Given the description of an element on the screen output the (x, y) to click on. 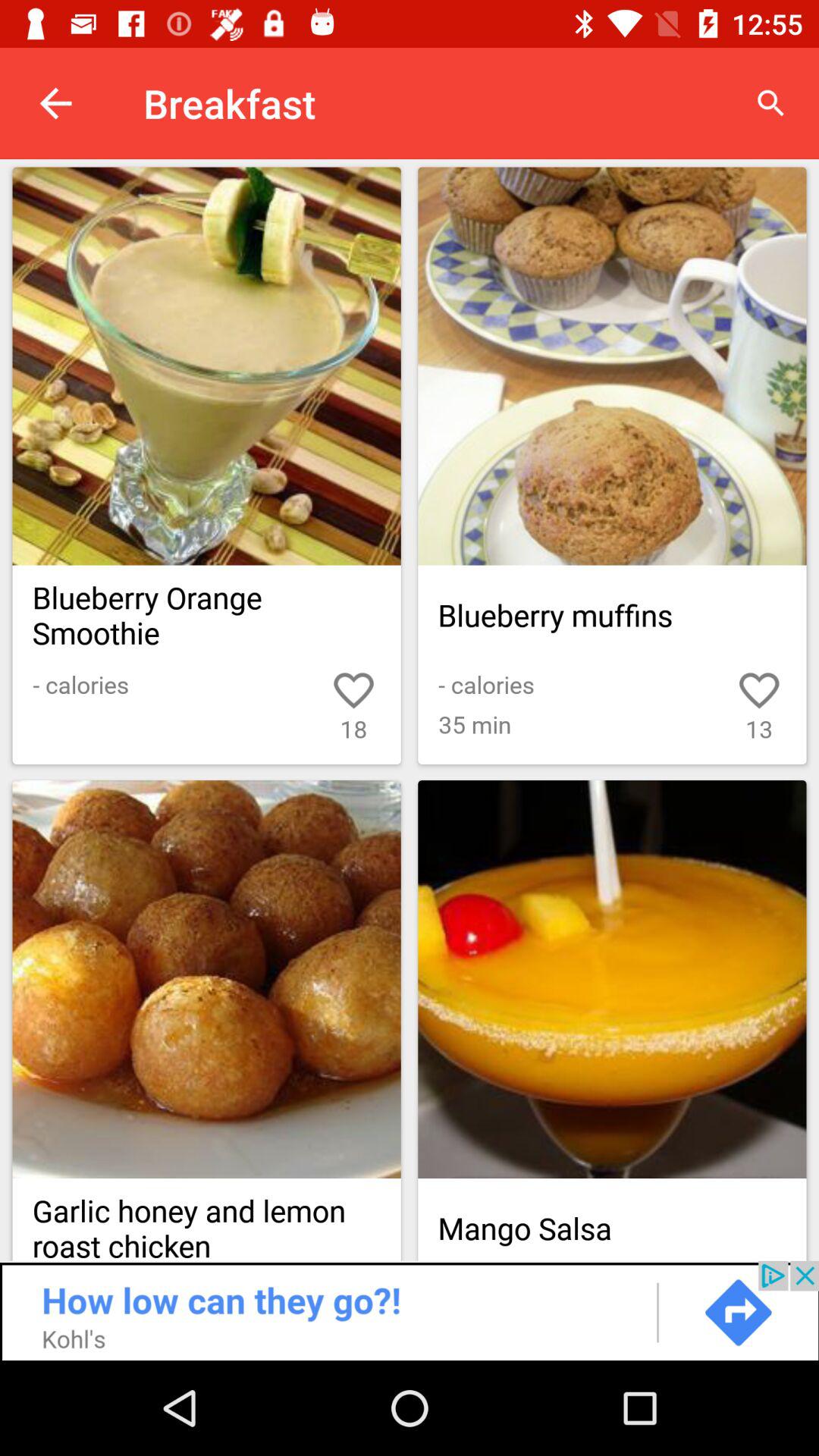
select to the food item (612, 366)
